Given the description of an element on the screen output the (x, y) to click on. 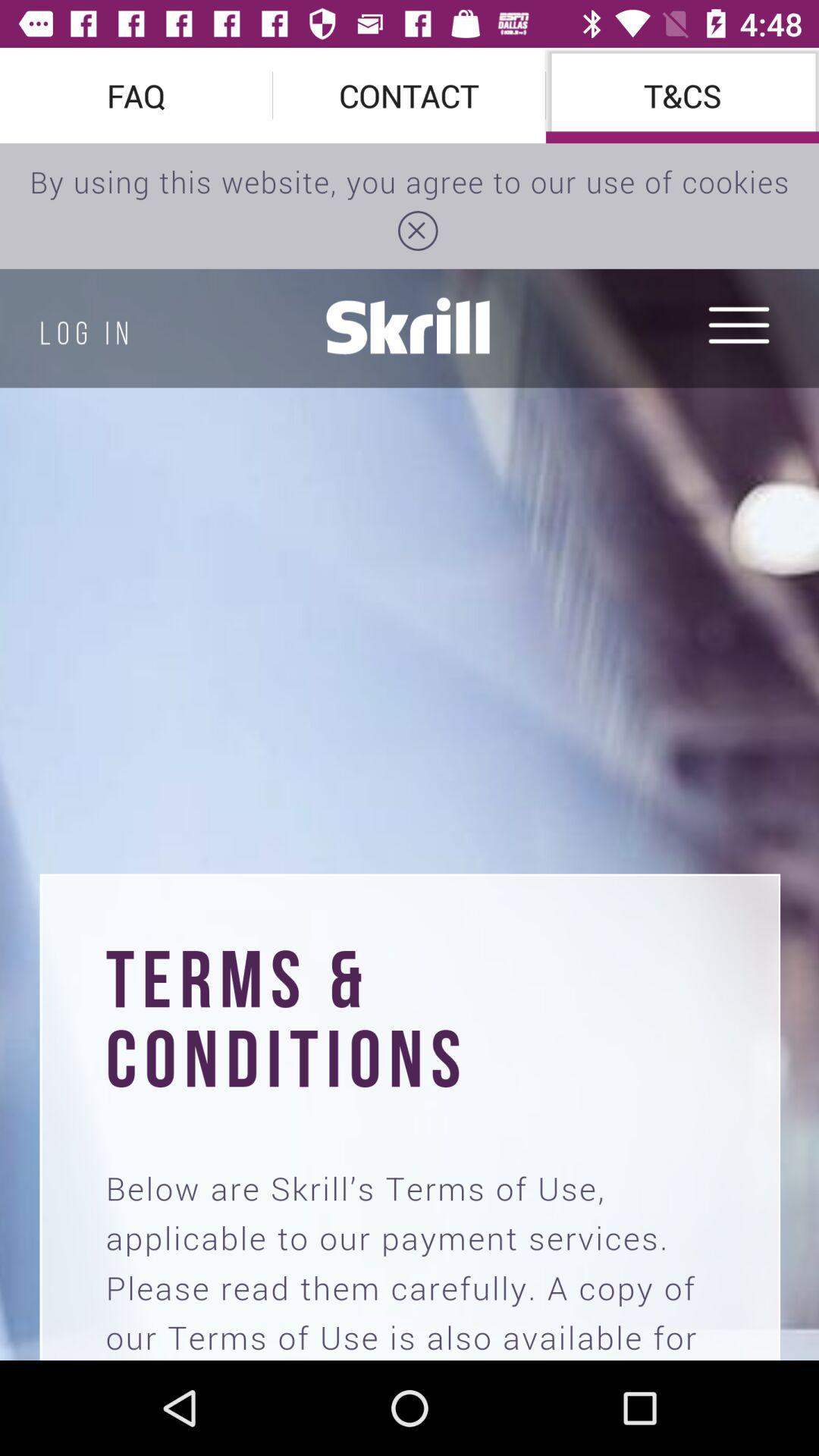
document image (409, 751)
